Given the description of an element on the screen output the (x, y) to click on. 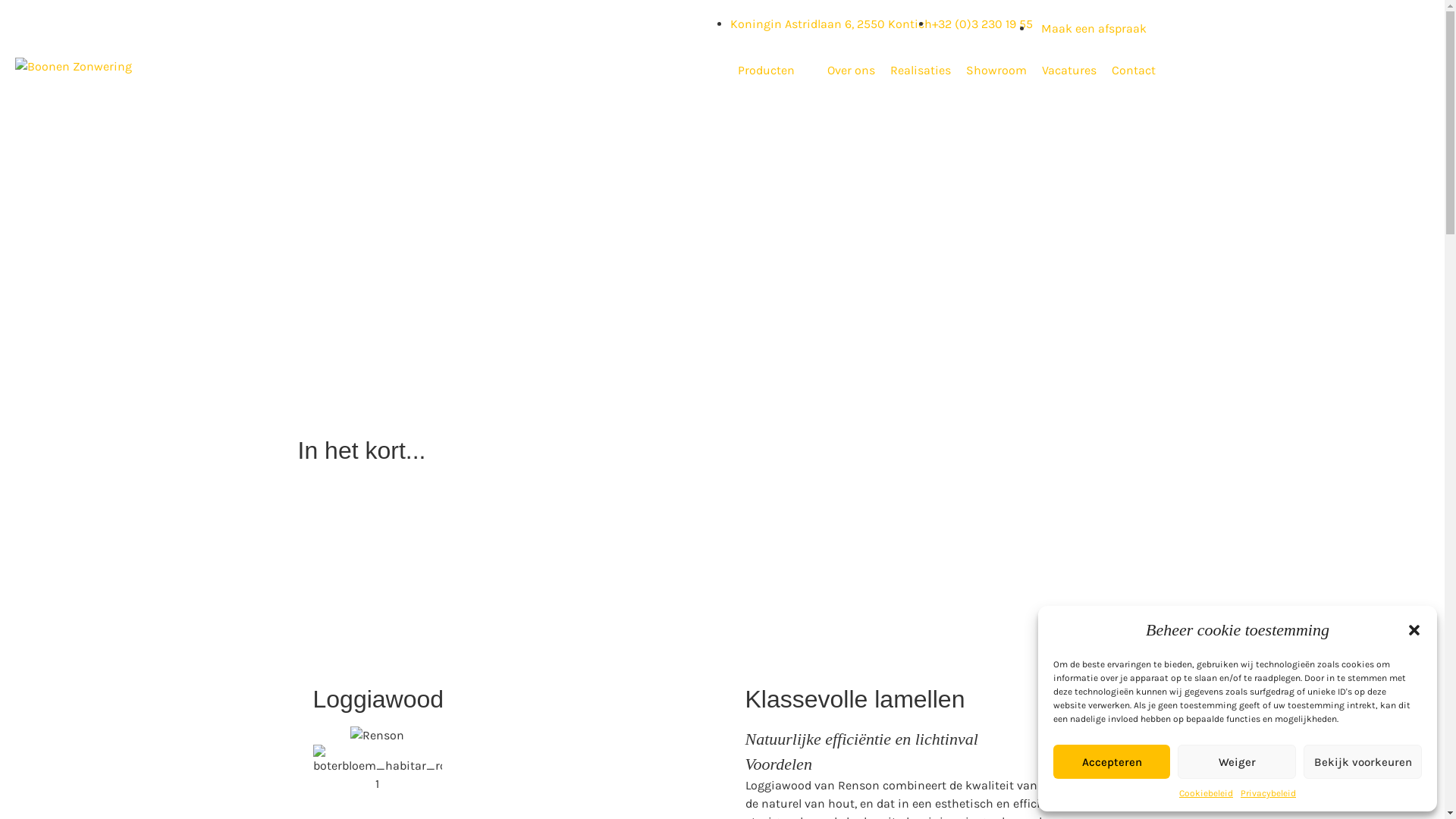
Maak een afspraak Element type: text (1092, 28)
Cookiebeleid Element type: text (1206, 793)
Weiger Element type: text (1236, 761)
Contact Element type: text (1133, 70)
Showroom Element type: text (996, 70)
Producten Element type: text (765, 70)
Over ons Element type: text (850, 70)
Accepteren Element type: text (1111, 761)
Bekijk voorkeuren Element type: text (1362, 761)
Realisaties Element type: text (920, 70)
Vacatures Element type: text (1068, 70)
Privacybeleid Element type: text (1267, 793)
Koningin Astridlaan 6, 2550 Kontich Element type: text (830, 23)
+32 (0)3 230 19 55 Element type: text (981, 23)
